Given the description of an element on the screen output the (x, y) to click on. 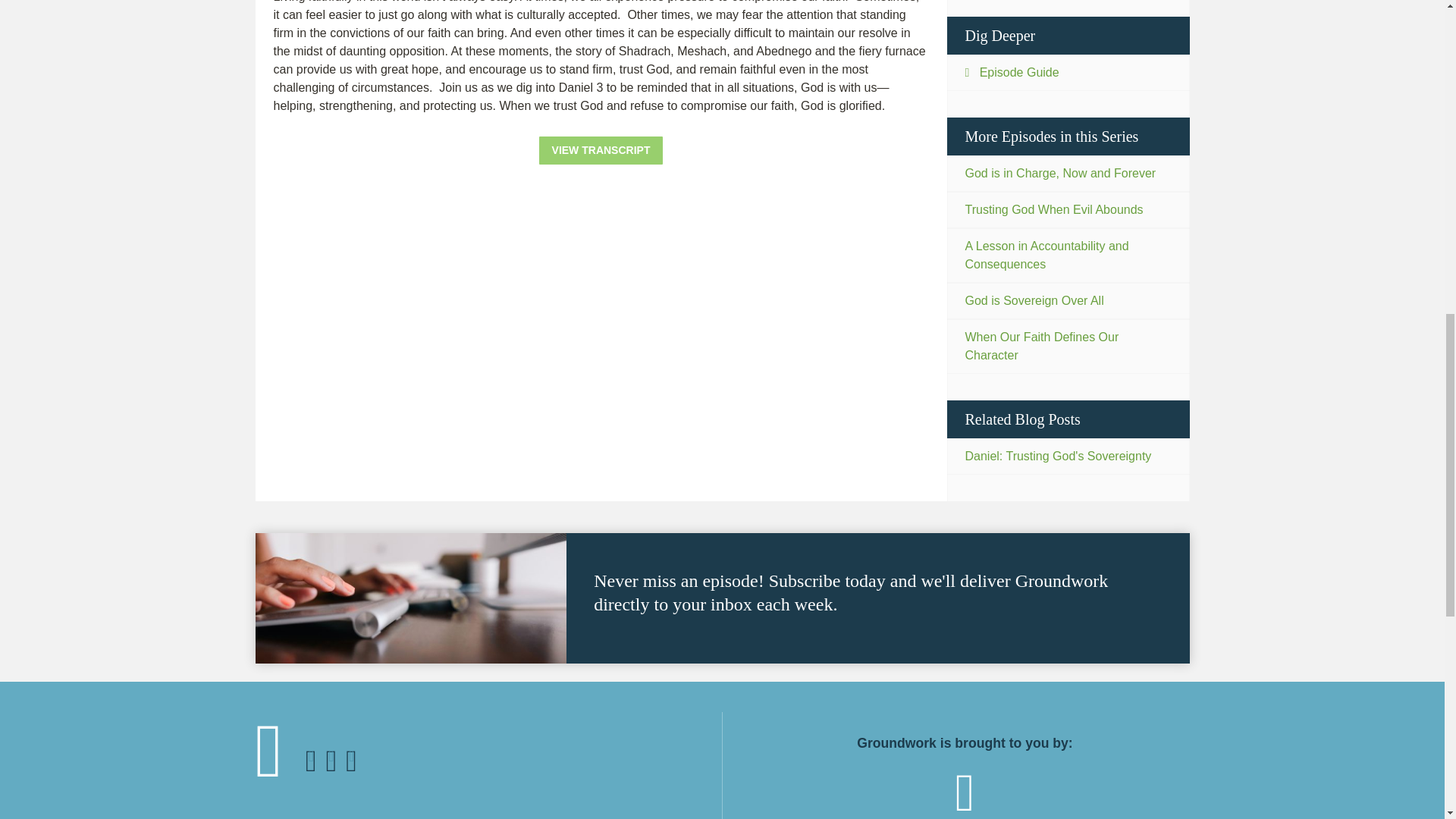
When Our Faith Defines Our Character (1067, 346)
God is in Charge, Now and Forever (1067, 173)
God is Sovereign Over All (1067, 300)
Daniel: Trusting God's Sovereignty (1067, 456)
A Lesson in Accountability and Consequences (1067, 255)
  Episode Guide (1067, 72)
Trusting God When Evil Abounds (1067, 209)
VIEW TRANSCRIPT (600, 150)
